Given the description of an element on the screen output the (x, y) to click on. 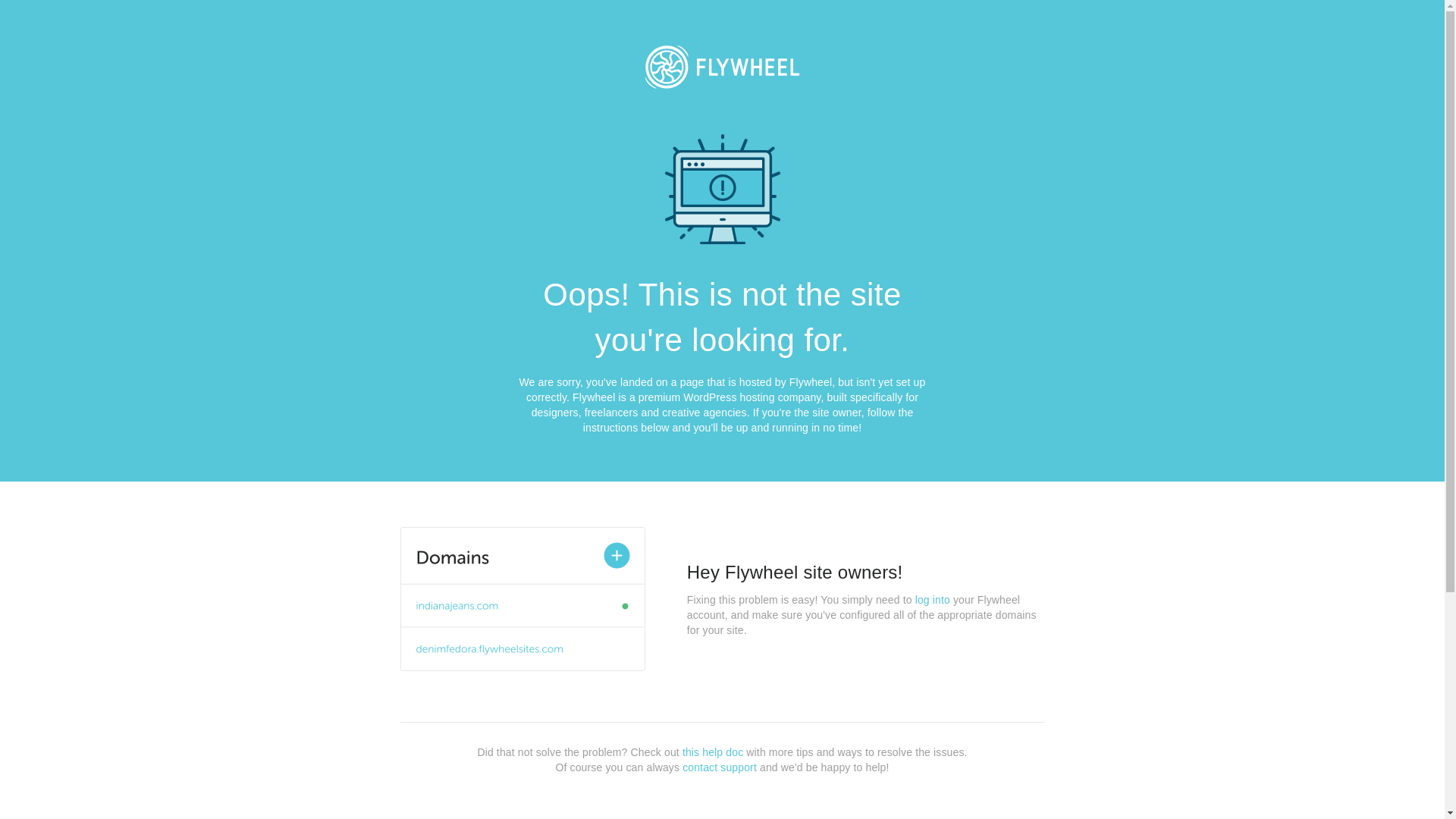
contact support (719, 767)
log into (932, 599)
this help doc (712, 752)
